Given the description of an element on the screen output the (x, y) to click on. 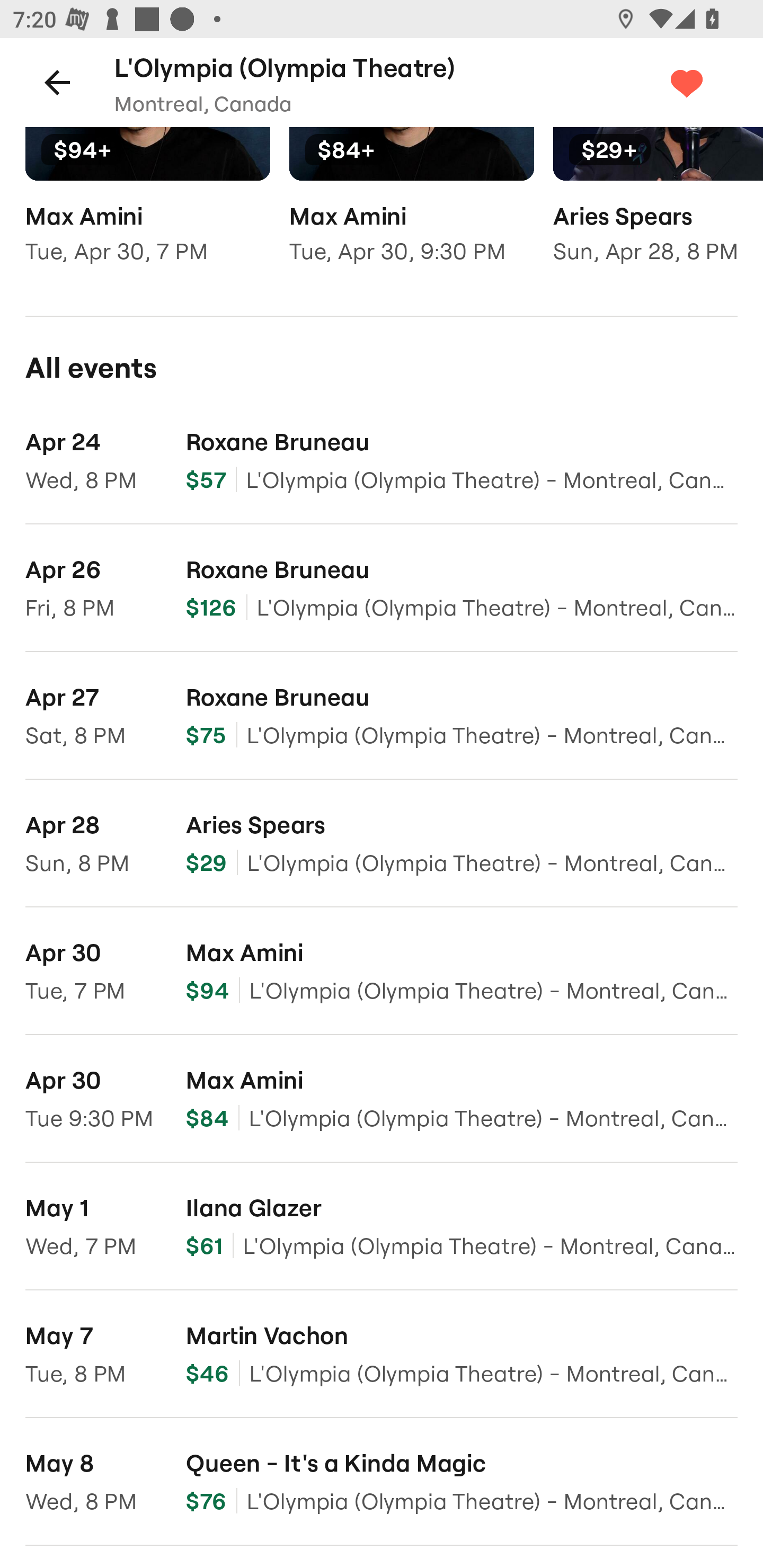
Back (57, 81)
Tracking (705, 81)
$94+ Max Amini Tue, Apr 30, 7 PM (147, 208)
$84+ Max Amini Tue, Apr 30, 9:30 PM (411, 208)
$29+ Aries Spears Sun, Apr 28, 8 PM (658, 208)
